Given the description of an element on the screen output the (x, y) to click on. 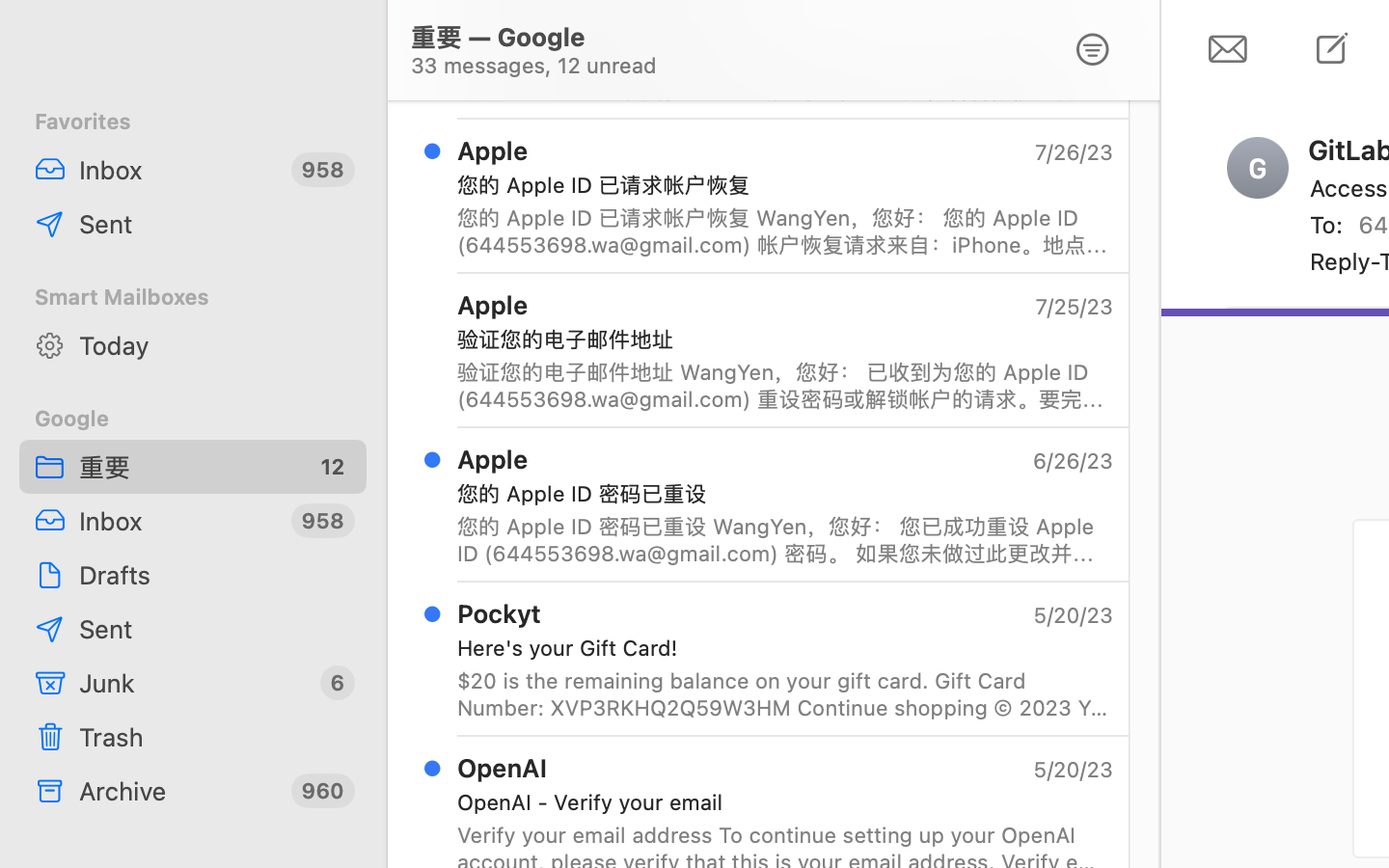
0 Element type: AXCheckBox (1092, 50)
6/26/23 Element type: AXStaticText (1071, 460)
7/25/23 Element type: AXStaticText (1072, 306)
Archive Element type: AXStaticText (177, 790)
Inbox Element type: AXStaticText (177, 169)
